Given the description of an element on the screen output the (x, y) to click on. 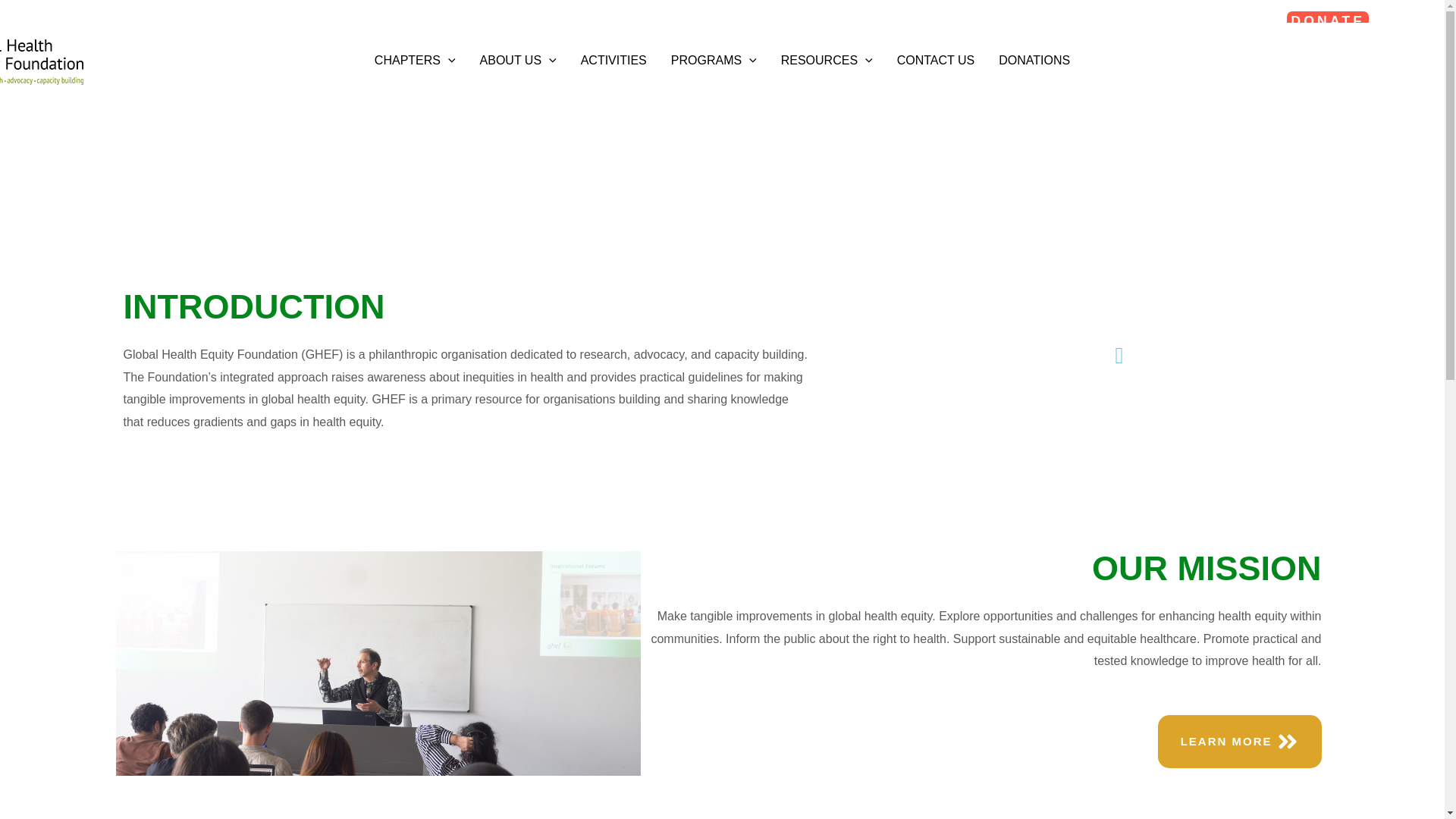
ABOUT US (518, 60)
CHAPTERS (414, 60)
DONATE (1358, 21)
ACTIVITIES (614, 60)
RESOURCES (826, 60)
PROGRAMS (713, 60)
DONATIONS (1034, 60)
CONTACT US (936, 60)
